Given the description of an element on the screen output the (x, y) to click on. 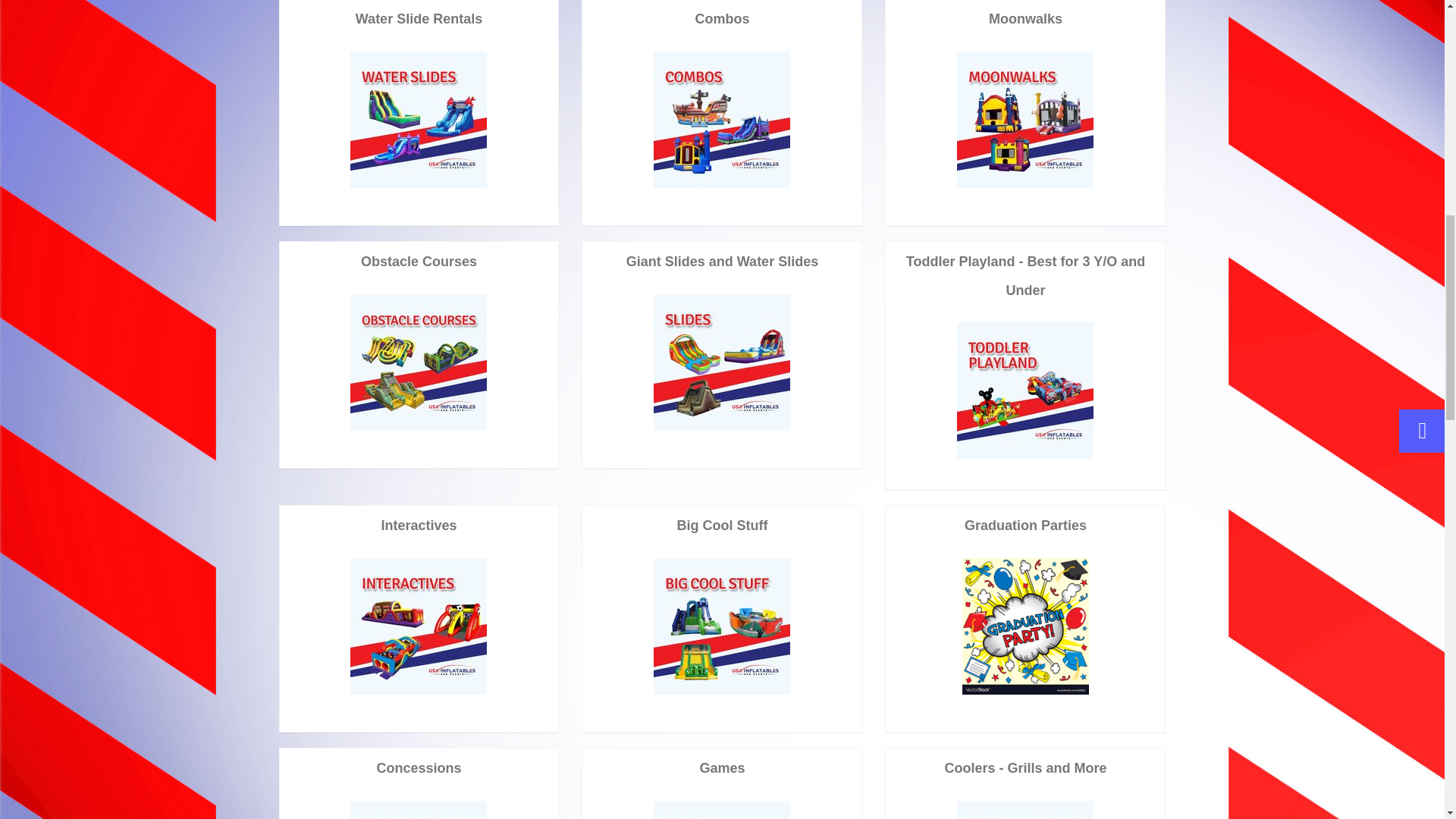
Big Cool Stuff (721, 625)
Coolers - Grills and More (1024, 809)
Giant Slides and Water Slides (721, 362)
Water Slide Rentals (418, 119)
Interactives (418, 625)
Concessions (418, 809)
Combos (721, 119)
Games (721, 809)
Graduation Parties (1025, 625)
Moonwalks (1024, 119)
Obstacle Courses (418, 362)
